Given the description of an element on the screen output the (x, y) to click on. 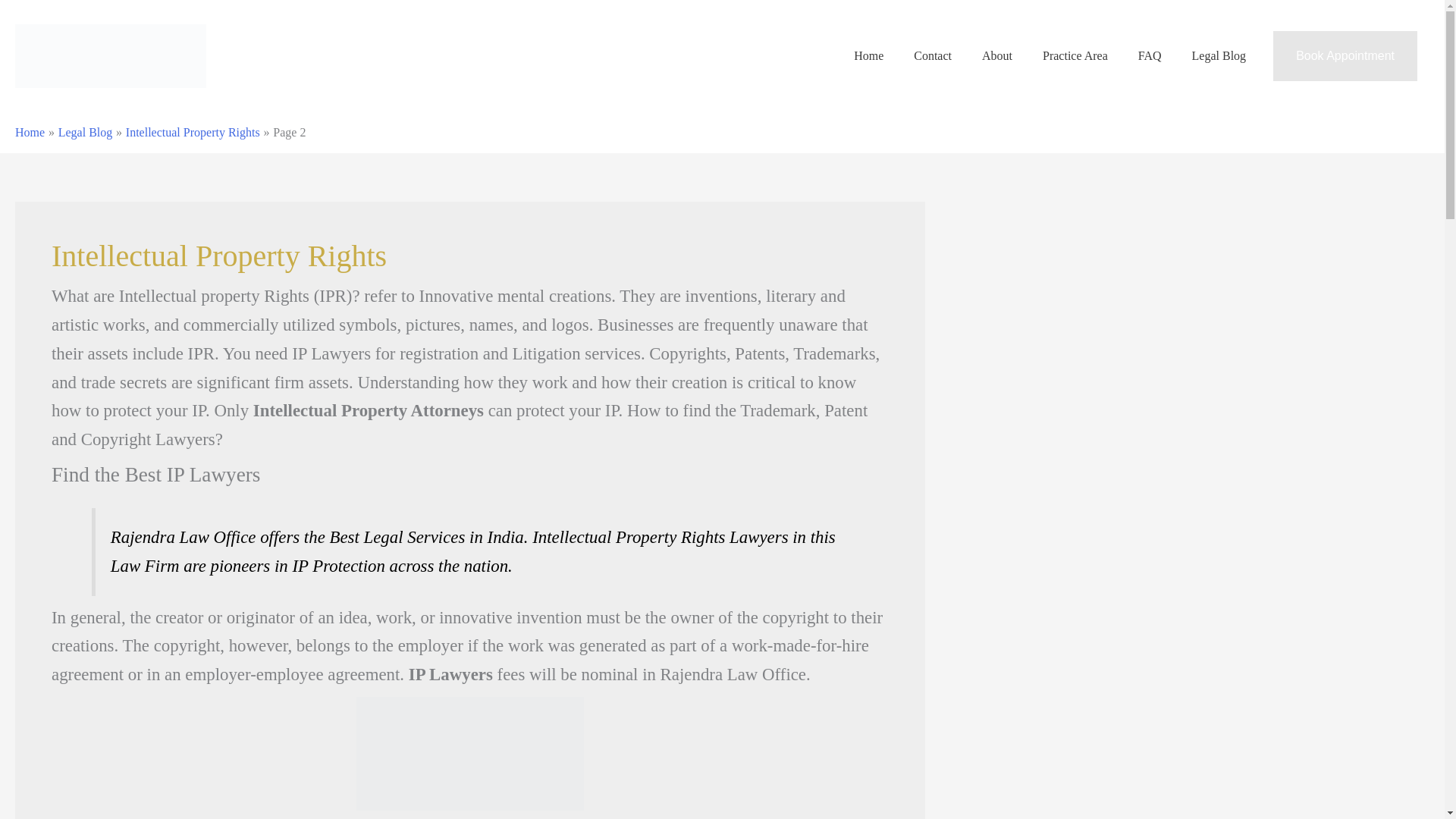
Book Appointment (484, 238)
Home (60, 145)
Twitter (41, 526)
Legal Blog (72, 214)
Skip to content (37, 6)
Contact (64, 159)
Facebook (41, 492)
Intellectual Property Rights (177, 300)
Home (14, 300)
LinkedIn (41, 561)
Skip to content (37, 6)
Main Menu (53, 109)
Legal Blog (70, 300)
About (60, 173)
FAQ (57, 200)
